Given the description of an element on the screen output the (x, y) to click on. 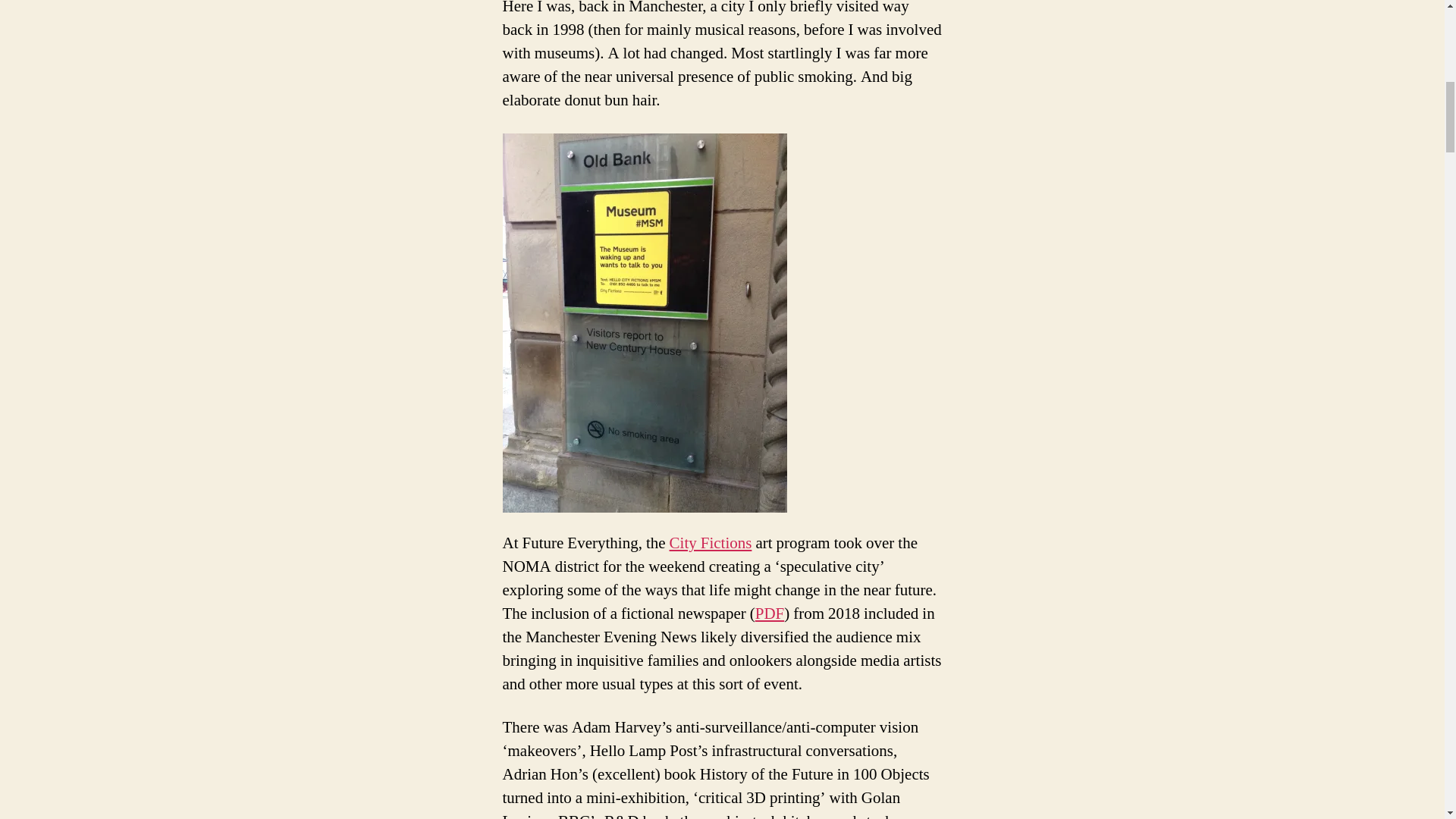
PDF (769, 613)
City Fictions (710, 543)
